Given the description of an element on the screen output the (x, y) to click on. 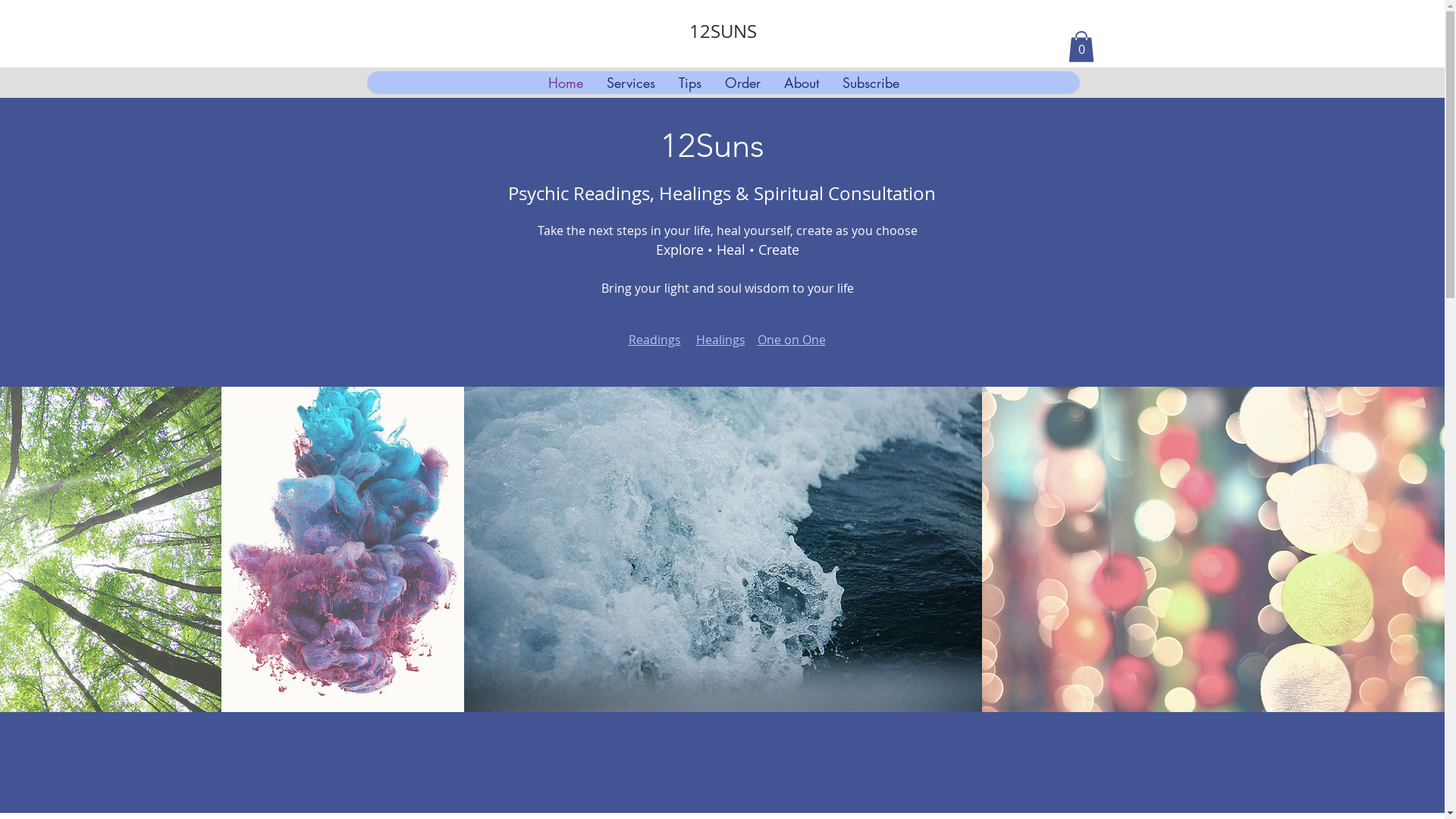
Healings Element type: text (720, 339)
0 Element type: text (1080, 46)
Subscribe Element type: text (869, 82)
One on One Element type: text (790, 339)
12SUNS Element type: text (722, 30)
Order Element type: text (741, 82)
Home Element type: text (564, 82)
Tips Element type: text (688, 82)
Readings Element type: text (653, 339)
About Element type: text (800, 82)
